Given the description of an element on the screen output the (x, y) to click on. 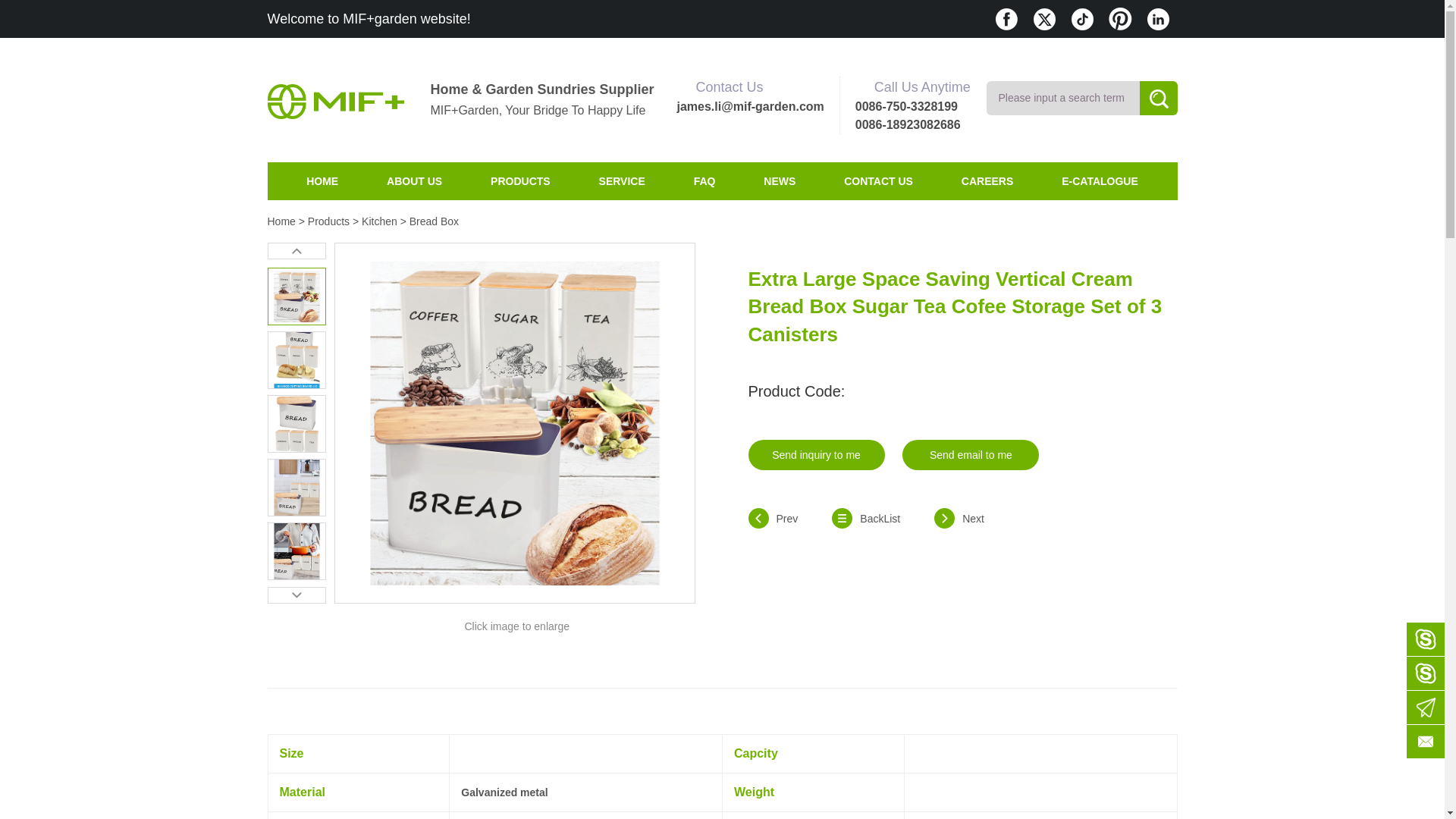
Please input a search term (1061, 98)
Please input a search term (1061, 98)
PRODUCTS (520, 180)
ABOUT US (414, 180)
